Given the description of an element on the screen output the (x, y) to click on. 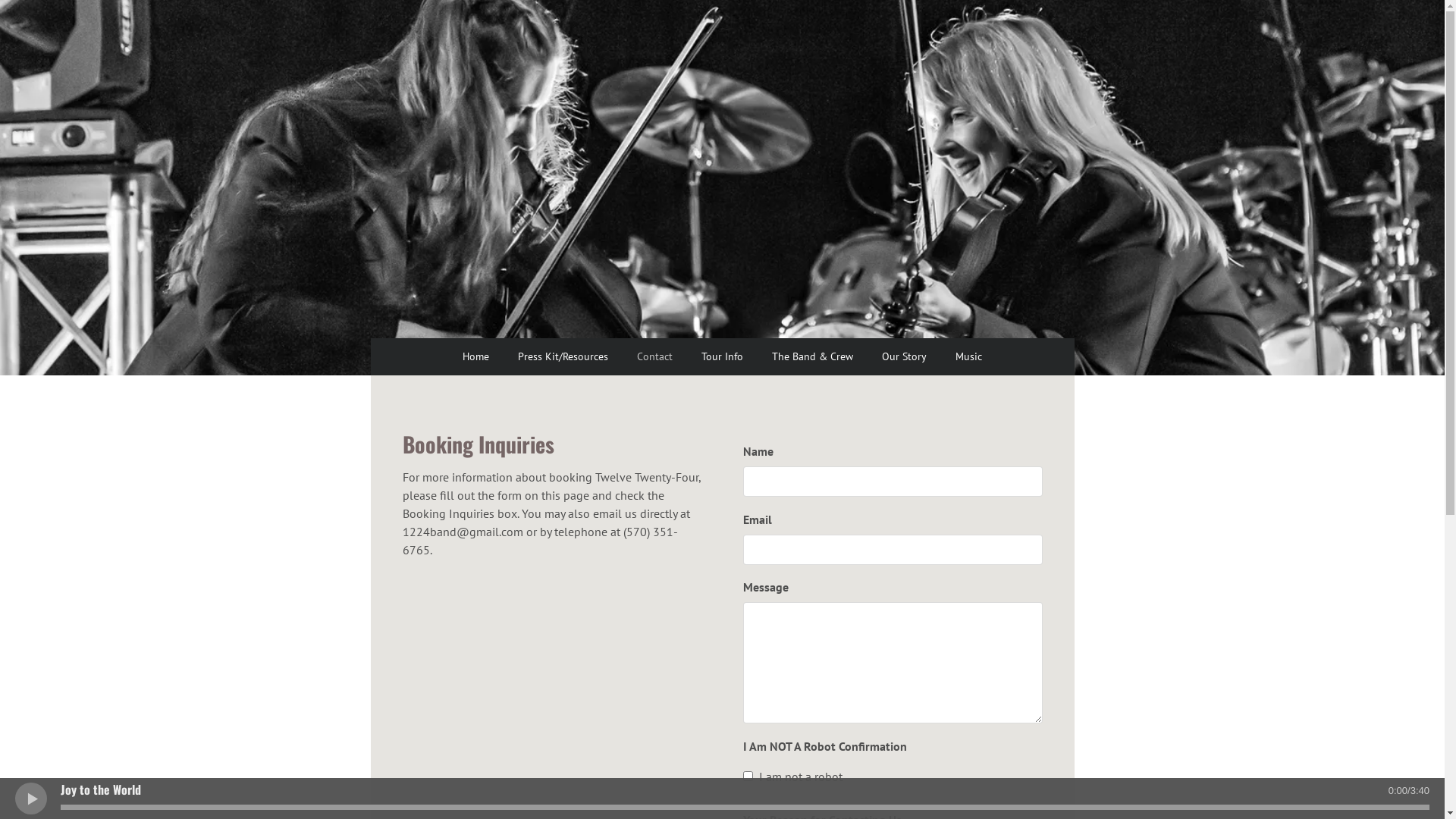
Tour Info Element type: text (721, 356)
Home Element type: text (475, 356)
The Band & Crew Element type: text (812, 356)
Press Kit/Resources Element type: text (562, 356)
Music Element type: text (968, 356)
Play Element type: hover (30, 797)
Contact Element type: text (654, 356)
Our Story Element type: text (904, 356)
